Given the description of an element on the screen output the (x, y) to click on. 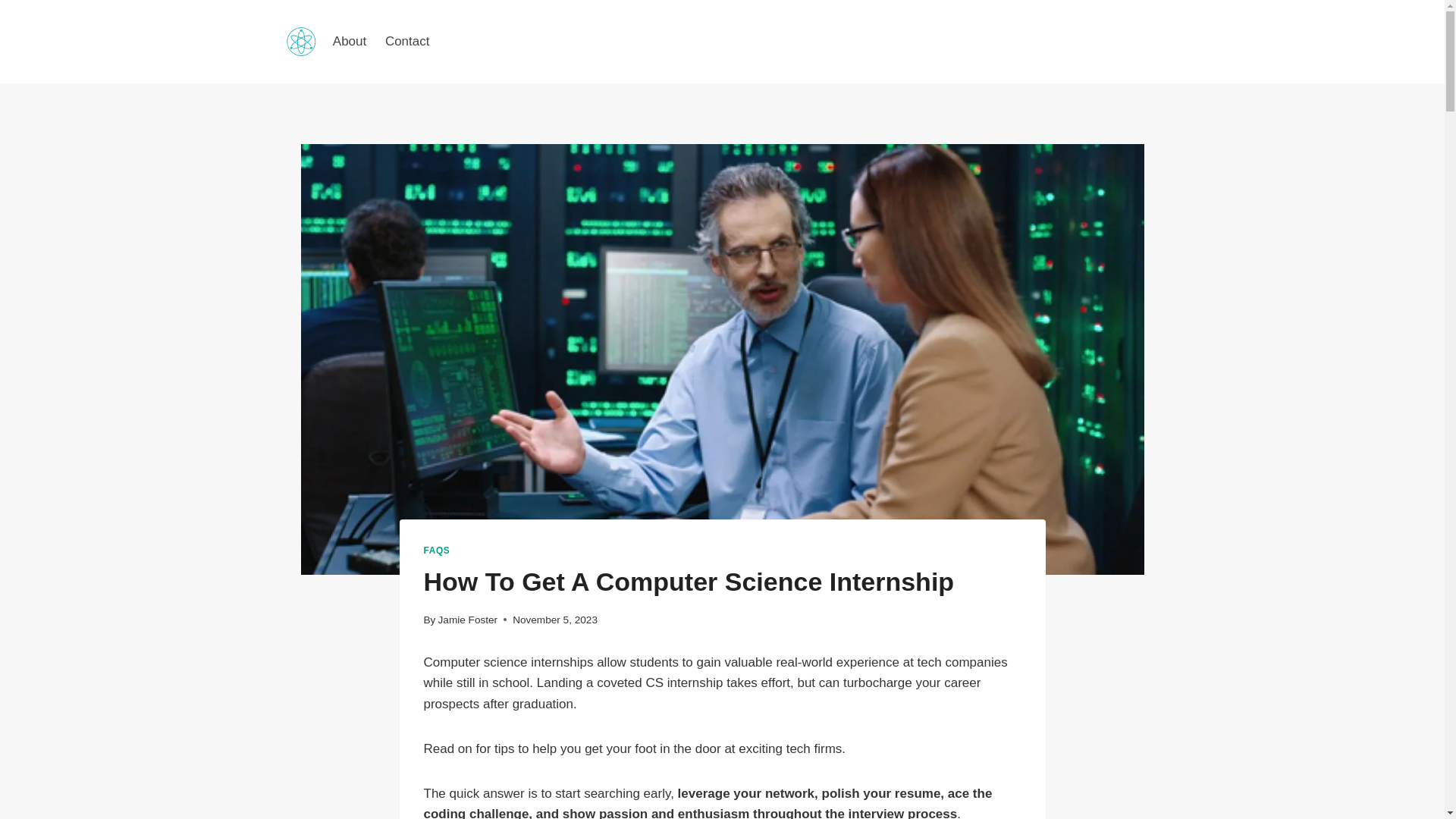
About (349, 41)
FAQS (436, 550)
Contact (407, 41)
Jamie Foster (467, 619)
